Given the description of an element on the screen output the (x, y) to click on. 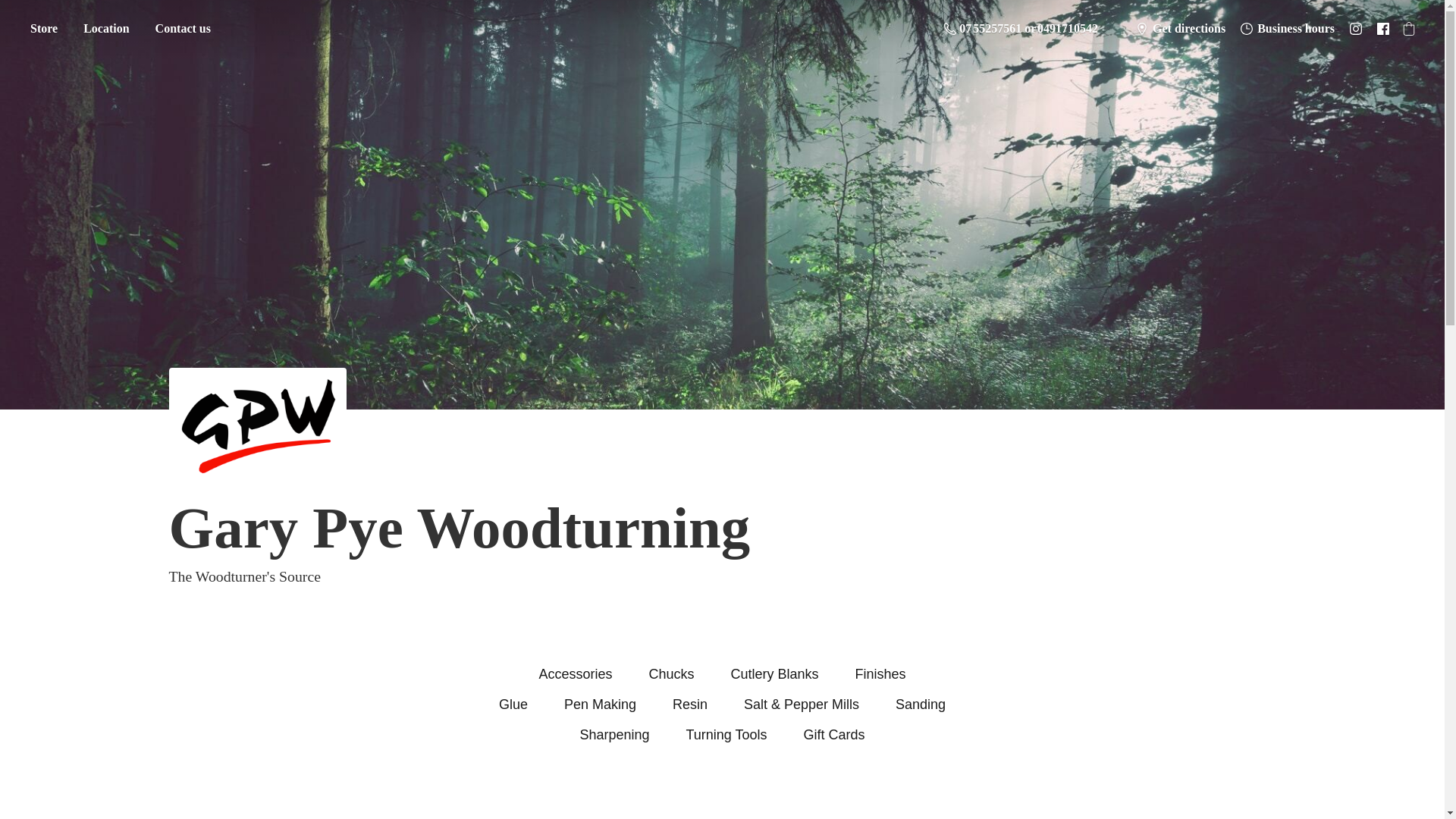
Turning Tools (726, 734)
Cutlery Blanks (774, 673)
Accessories (574, 673)
Store (43, 29)
Business hours (1287, 28)
Pen Making (600, 704)
Get directions (1180, 28)
Contact us (183, 29)
Finishes (880, 673)
Sharpening (614, 734)
